Given the description of an element on the screen output the (x, y) to click on. 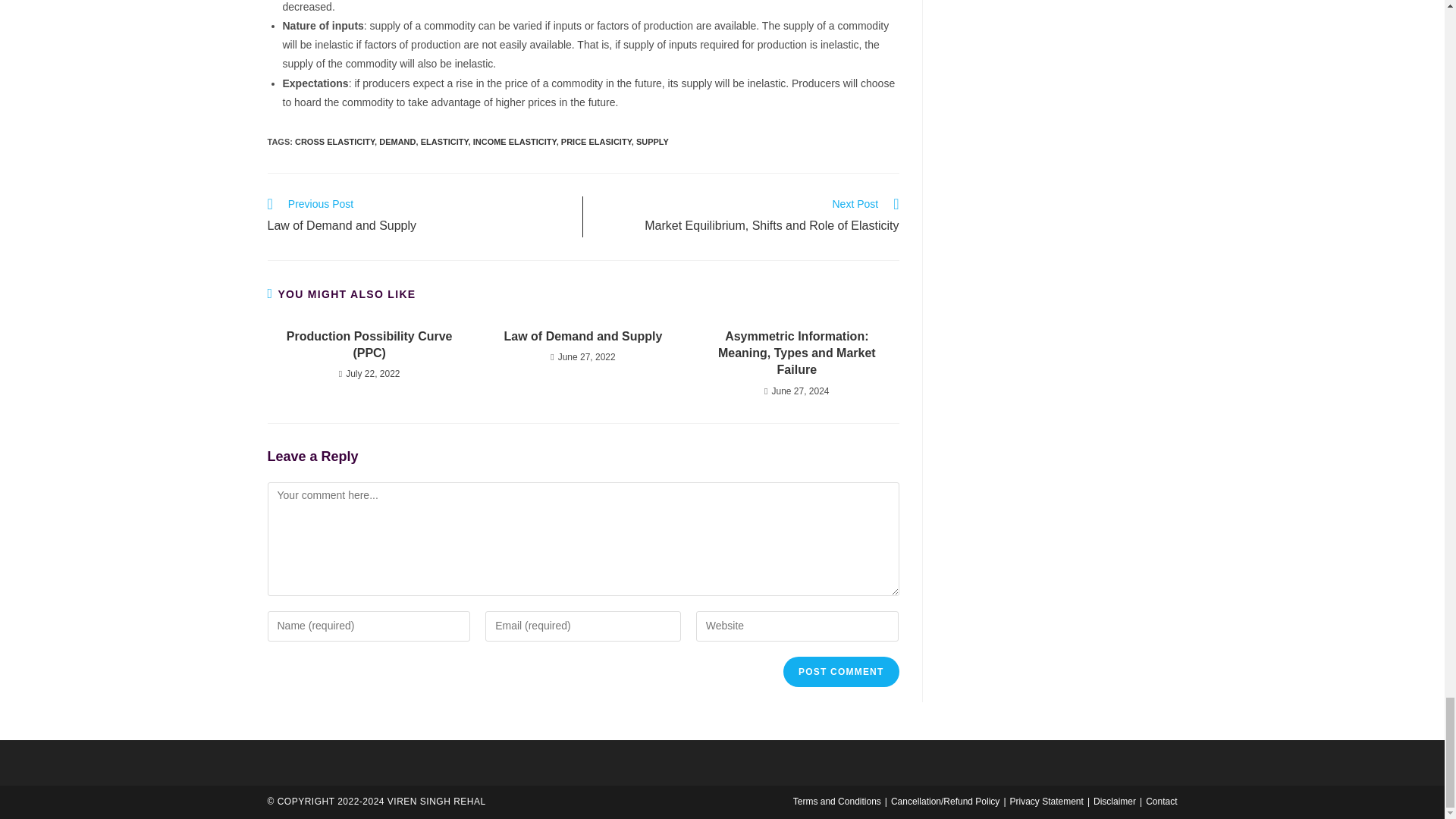
Post Comment (840, 671)
